Given the description of an element on the screen output the (x, y) to click on. 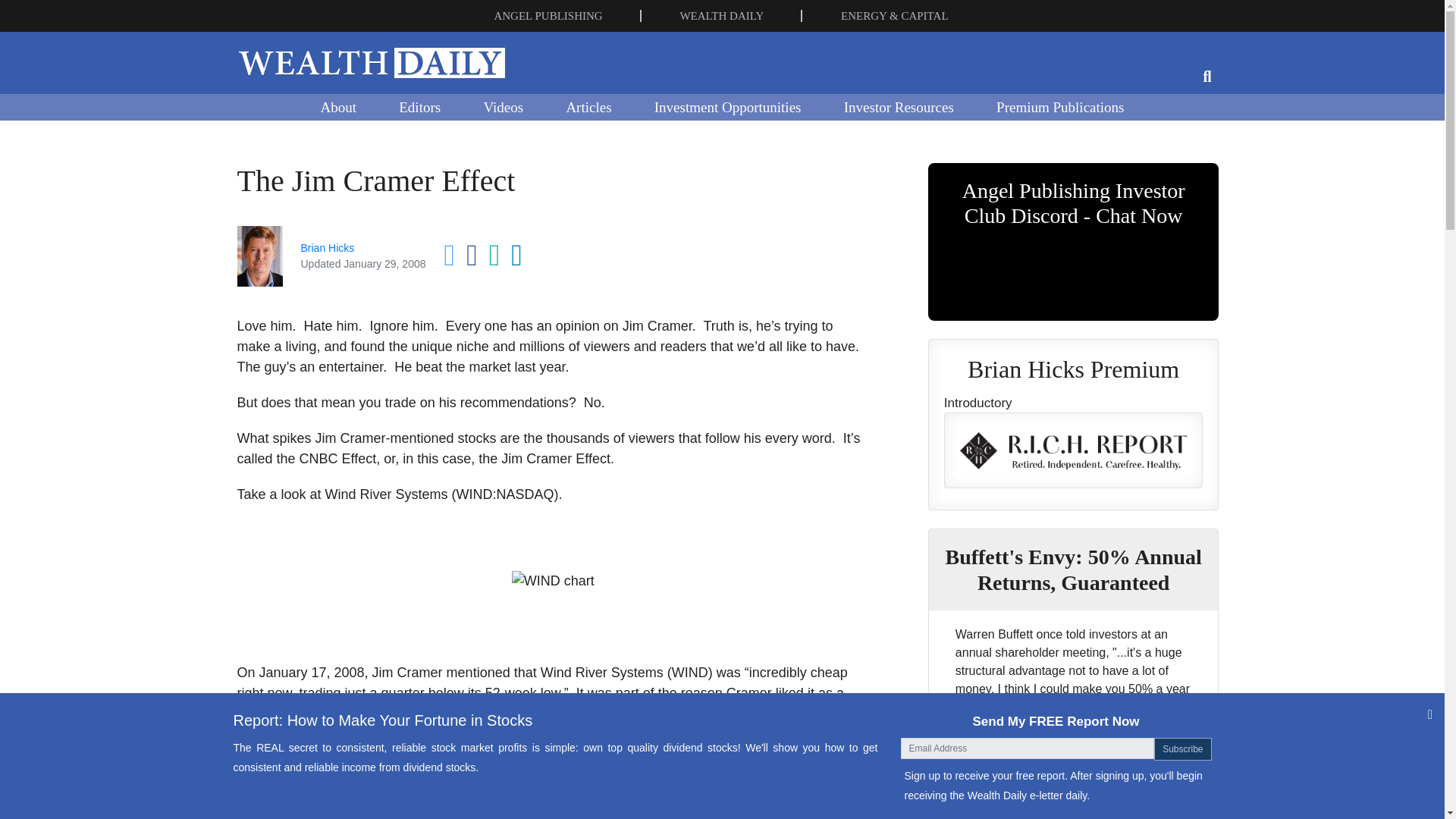
Investor Resources (898, 106)
WEALTH DAILY (720, 15)
Editors (419, 106)
Premium Publications (1059, 106)
ANGEL PUBLISHING (547, 15)
About (337, 106)
Brian Hicks (326, 247)
Articles (587, 106)
Investment Opportunities (727, 106)
WIND chart (553, 580)
